Given the description of an element on the screen output the (x, y) to click on. 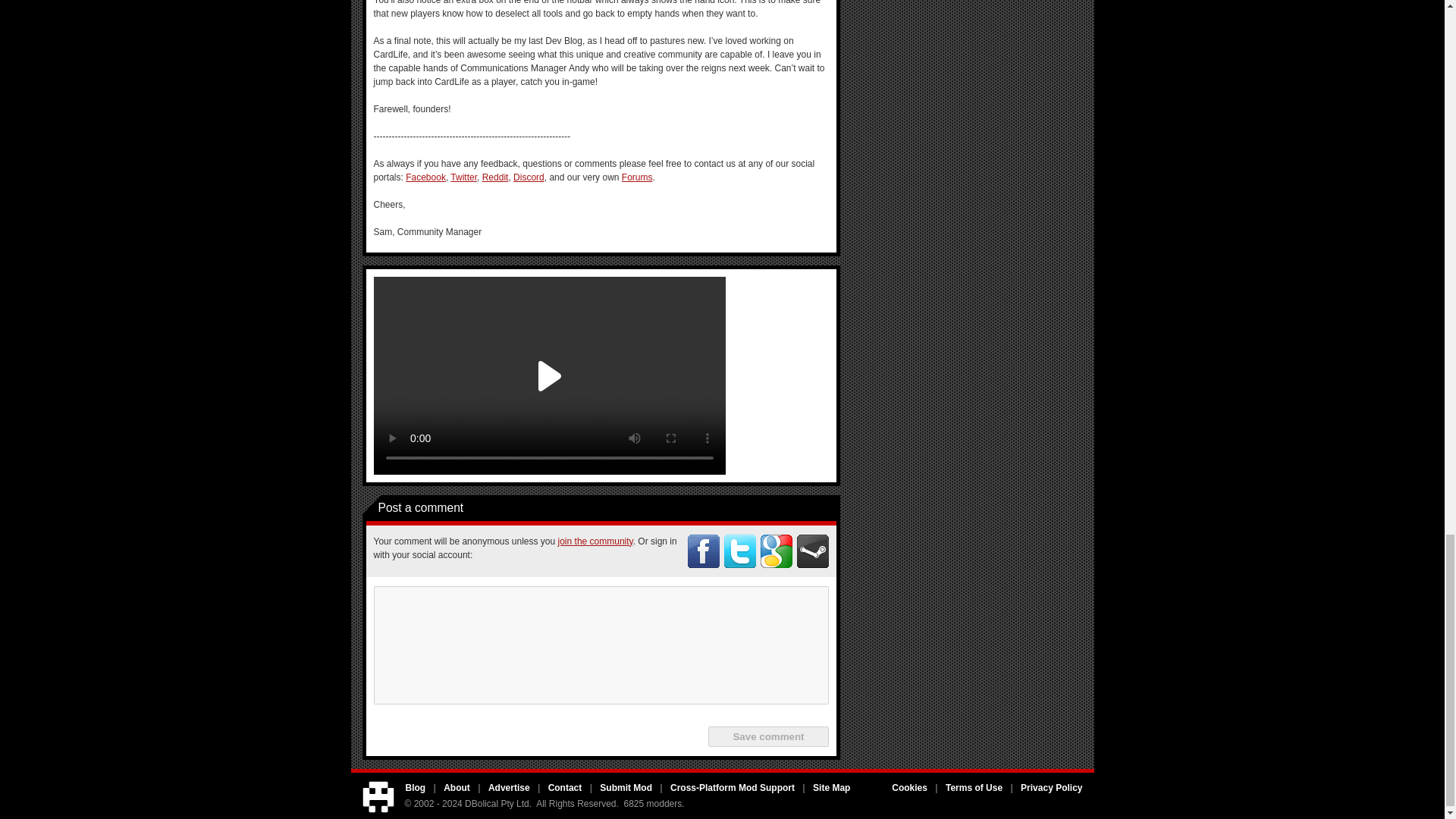
Click to connect via Twitter (739, 551)
Click to connect via Steam (812, 551)
Click to connect via Google (776, 551)
Save comment (767, 736)
Click to connect via Facebook (703, 551)
